Given the description of an element on the screen output the (x, y) to click on. 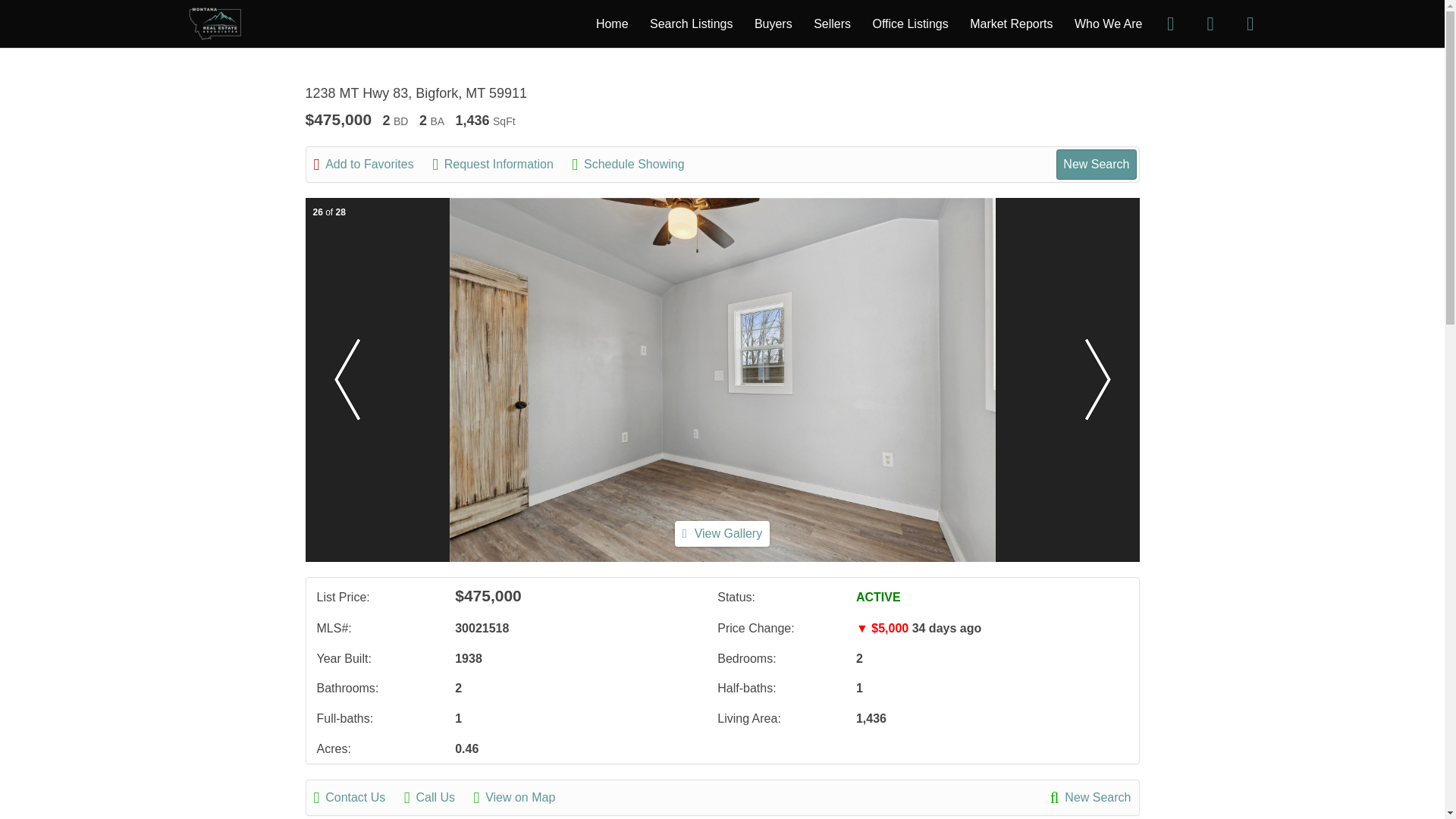
Who We Are (1108, 23)
Call Us (437, 797)
Login or Signup (1249, 22)
View Gallery (722, 533)
View Gallery (722, 533)
Home (611, 23)
Search Listings (690, 23)
Sellers (831, 23)
Buyers (773, 23)
Contact by Phone (1209, 22)
Schedule Showing (635, 164)
New Search (1090, 797)
New Search (1096, 164)
View on Map (521, 797)
Add to Favorites (371, 164)
